Given the description of an element on the screen output the (x, y) to click on. 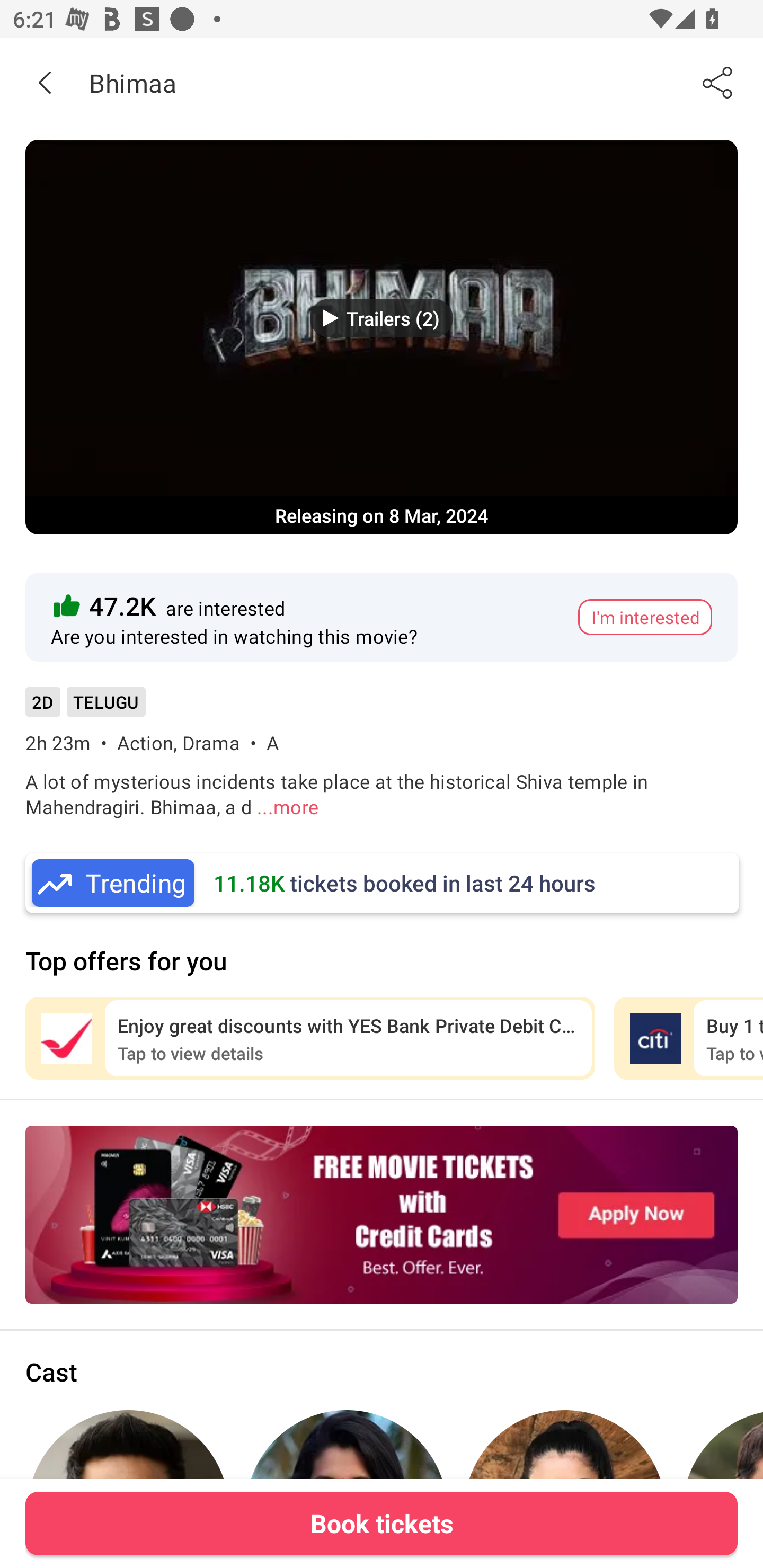
Back (44, 82)
Share (718, 82)
Movie Banner Trailers (2) Releasing on 8 Mar, 2024 (381, 336)
Trailers (2) (381, 318)
I'm interested (644, 616)
2D TELUGU (85, 707)
Book tickets (381, 1523)
